Given the description of an element on the screen output the (x, y) to click on. 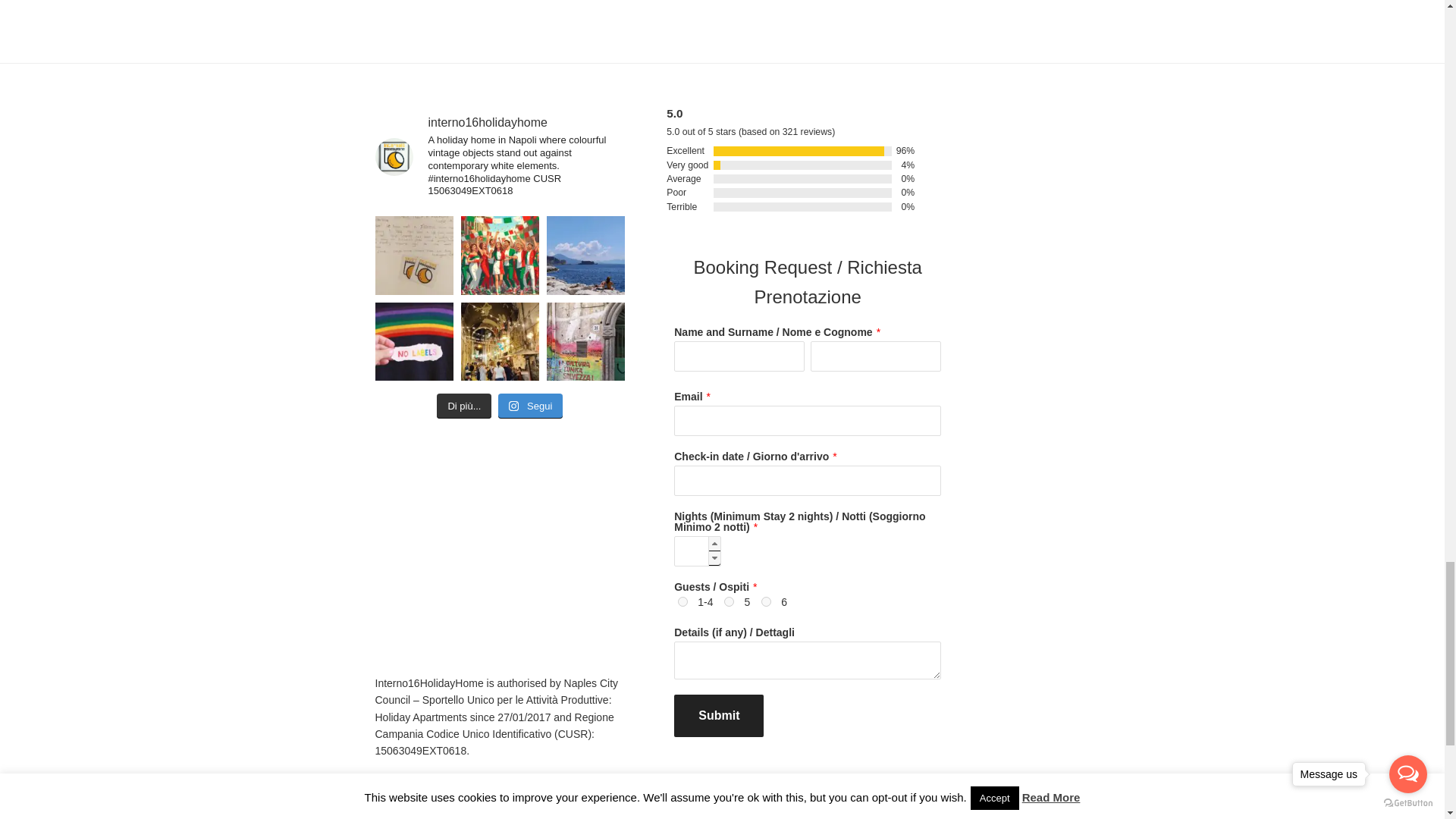
6 (766, 601)
5 (728, 601)
1-4 (682, 601)
